Given the description of an element on the screen output the (x, y) to click on. 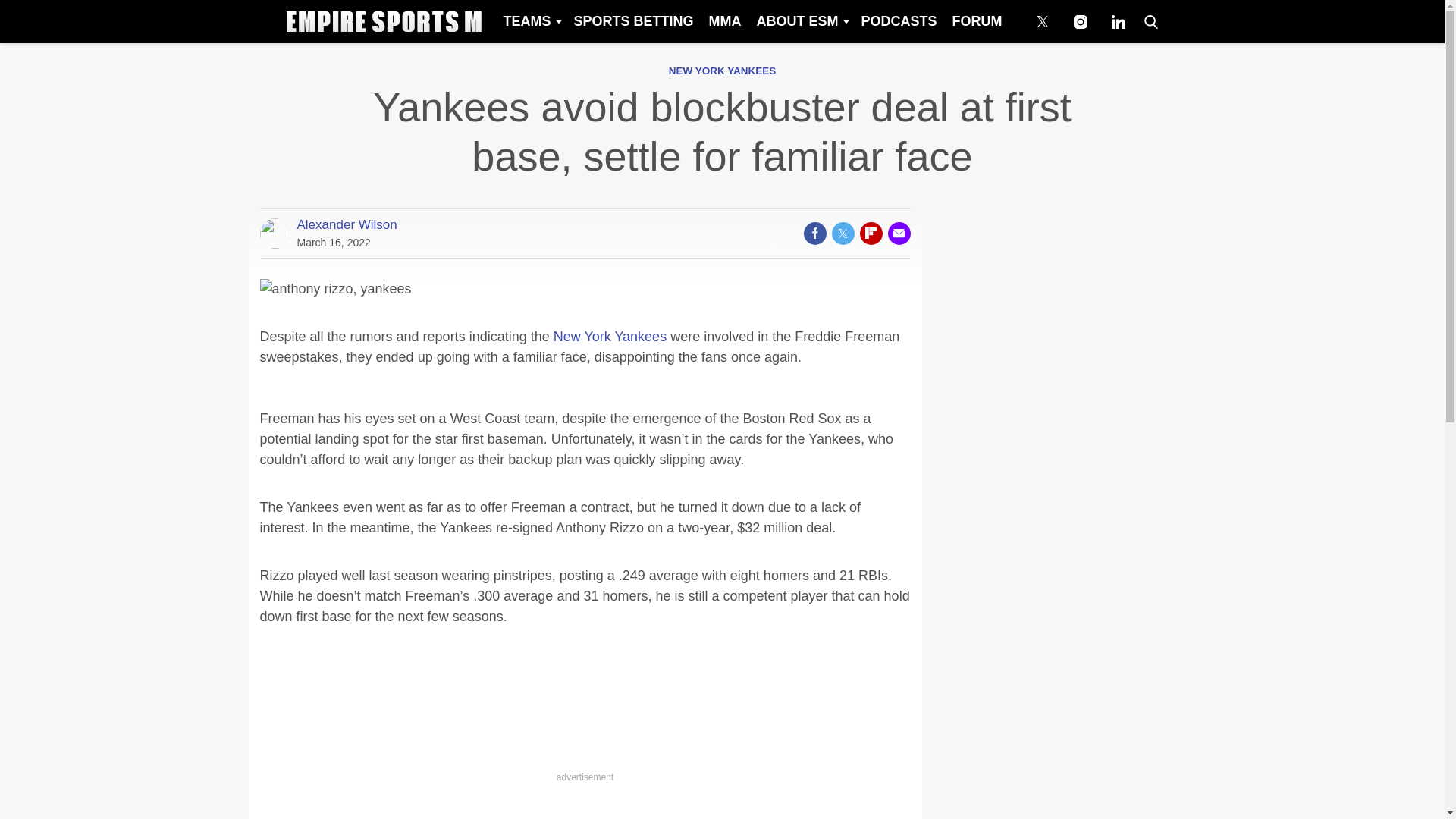
NEW YORK YANKEES (722, 70)
PODCASTS (898, 21)
FORUM (977, 21)
MMA (724, 21)
TEAMS (530, 21)
Alexander Wilson (347, 225)
Share via Email (898, 232)
ABOUT ESM (800, 21)
Share on Twitter (842, 232)
Posts by Alexander Wilson (347, 225)
